Given the description of an element on the screen output the (x, y) to click on. 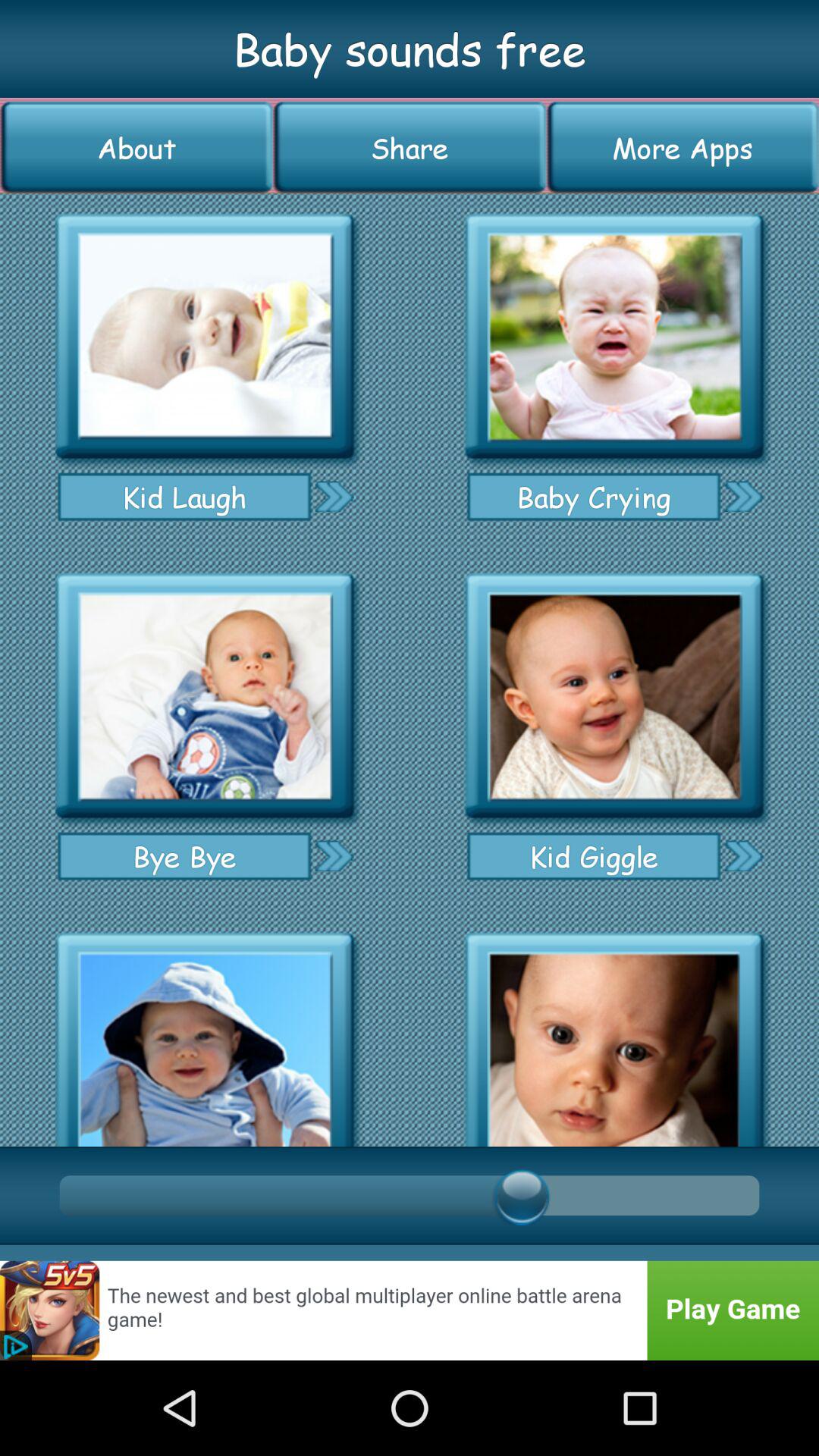
select the sound (204, 1034)
